Given the description of an element on the screen output the (x, y) to click on. 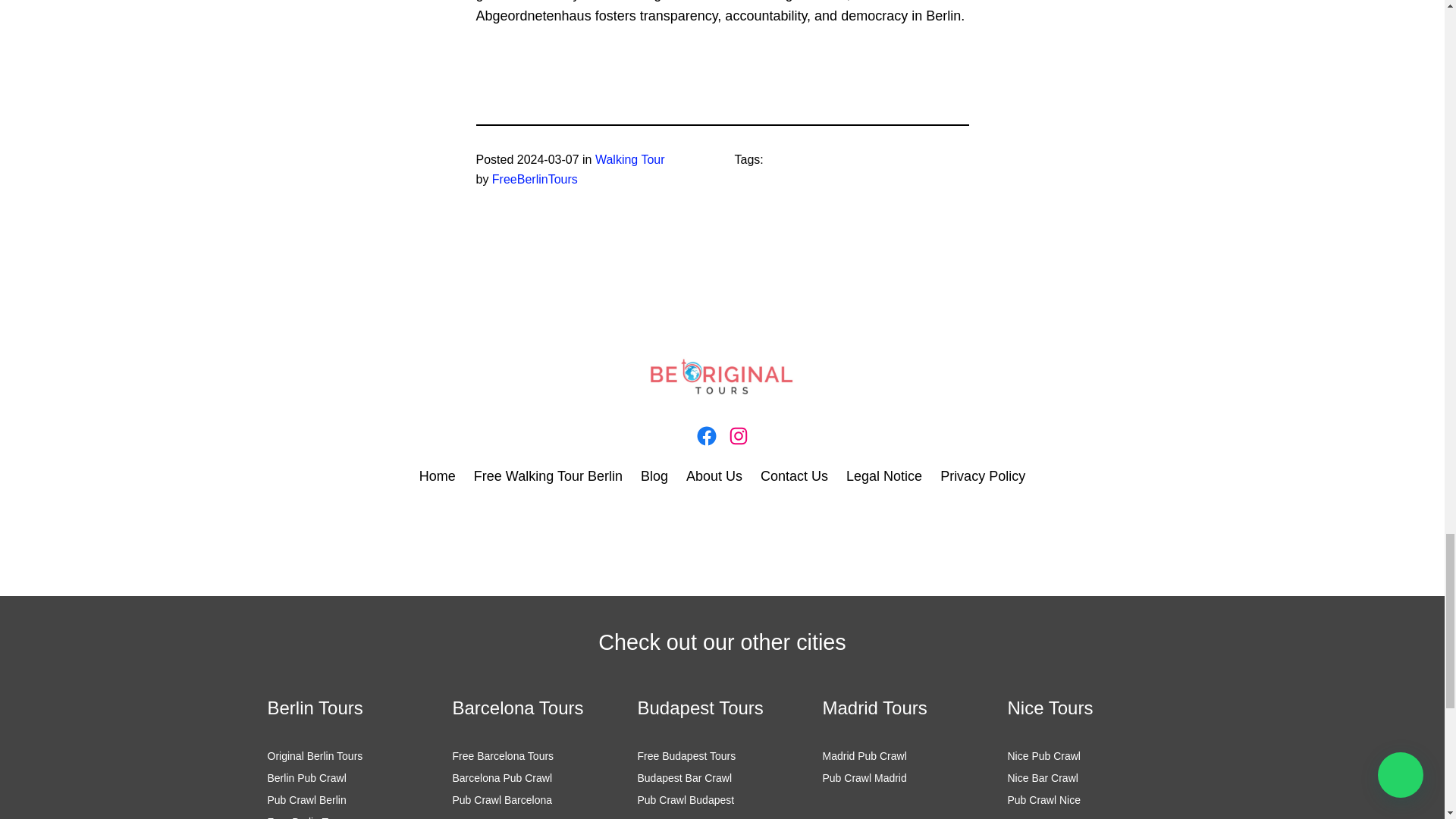
Free Berlin Tours (306, 817)
Berlin Pub Crawl (306, 777)
Pub Crawl Berlin (306, 799)
FreeBerlinTours (535, 178)
Original Berlin Tours (314, 756)
Free Walking Tour Berlin (548, 476)
Instagram (737, 436)
Home (437, 476)
Contact Us (794, 476)
Privacy Policy (982, 476)
Walking Tour (630, 159)
About Us (713, 476)
Facebook (705, 436)
Free Barcelona Tours (502, 756)
Blog (654, 476)
